Given the description of an element on the screen output the (x, y) to click on. 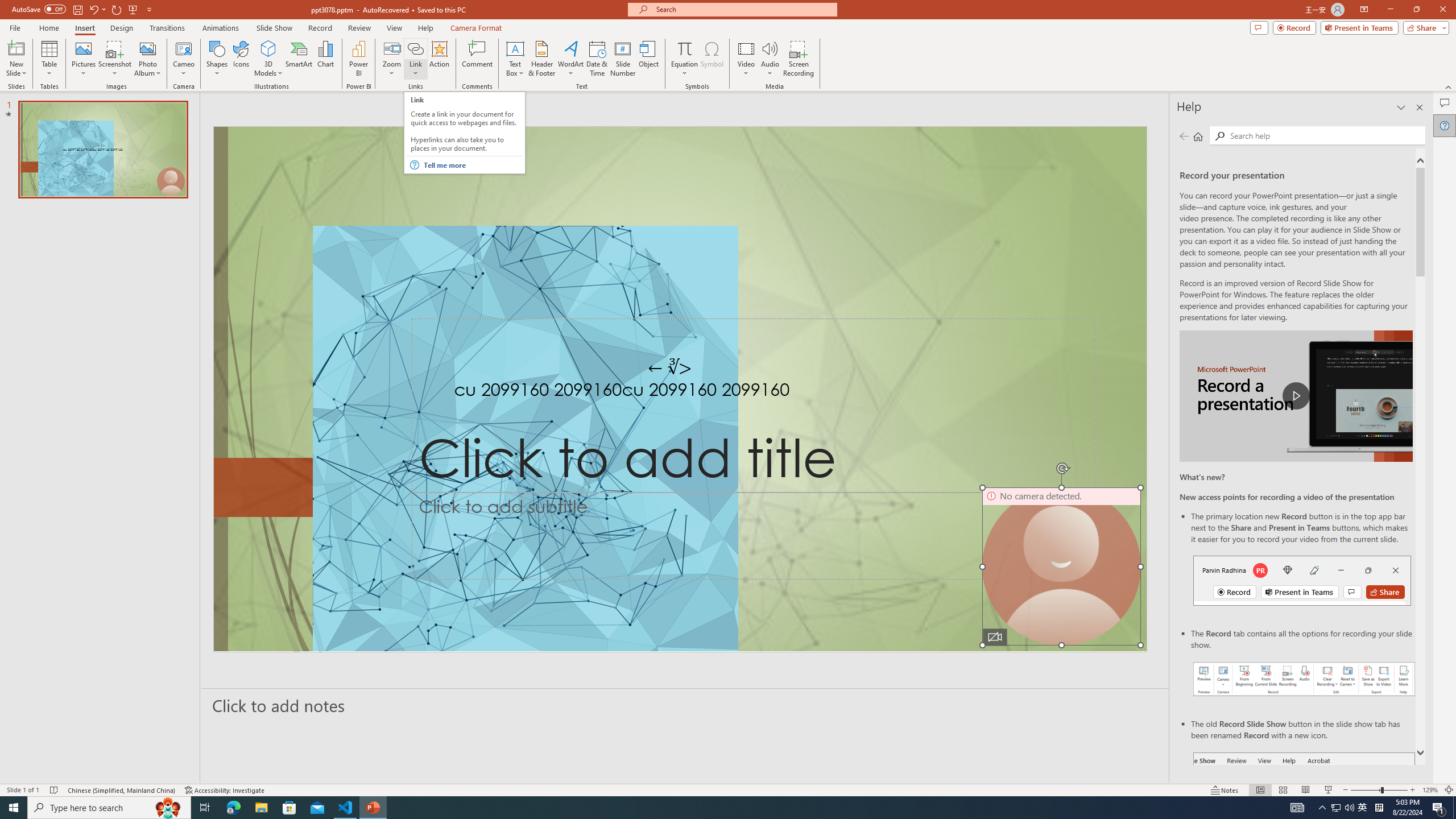
Quick Access Toolbar (82, 9)
Zoom (391, 58)
Previous page (1183, 136)
Zoom In (1412, 790)
Slide Notes (685, 705)
Record your presentations screenshot one (1304, 678)
Search (1325, 135)
Insert (83, 28)
Slide Number (622, 58)
TextBox 61 (678, 391)
An abstract genetic concept (680, 388)
Tell me more (472, 165)
Review (359, 28)
Equation (683, 58)
